Given the description of an element on the screen output the (x, y) to click on. 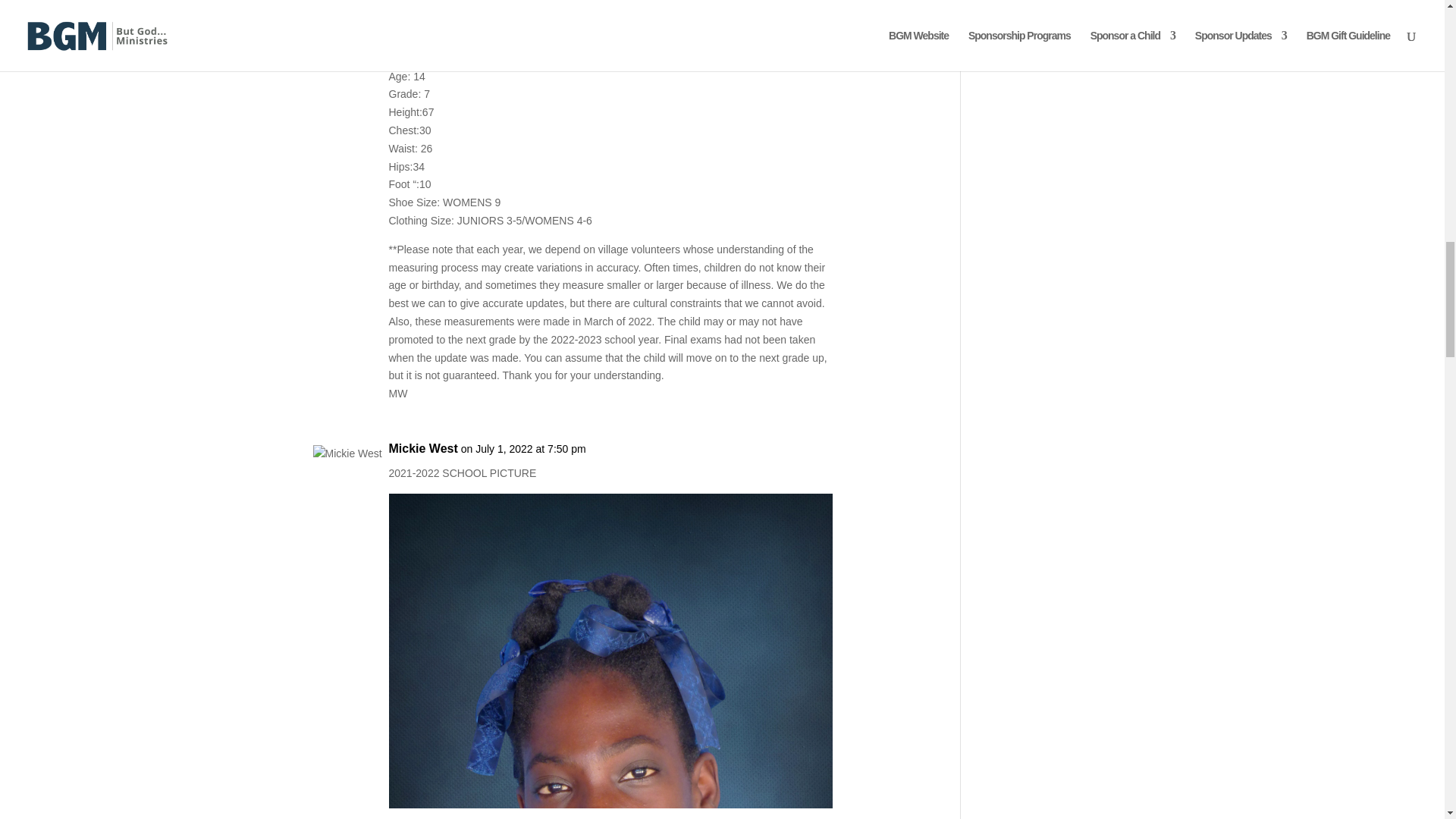
Mickie West (422, 34)
Mickie West (422, 448)
